Given the description of an element on the screen output the (x, y) to click on. 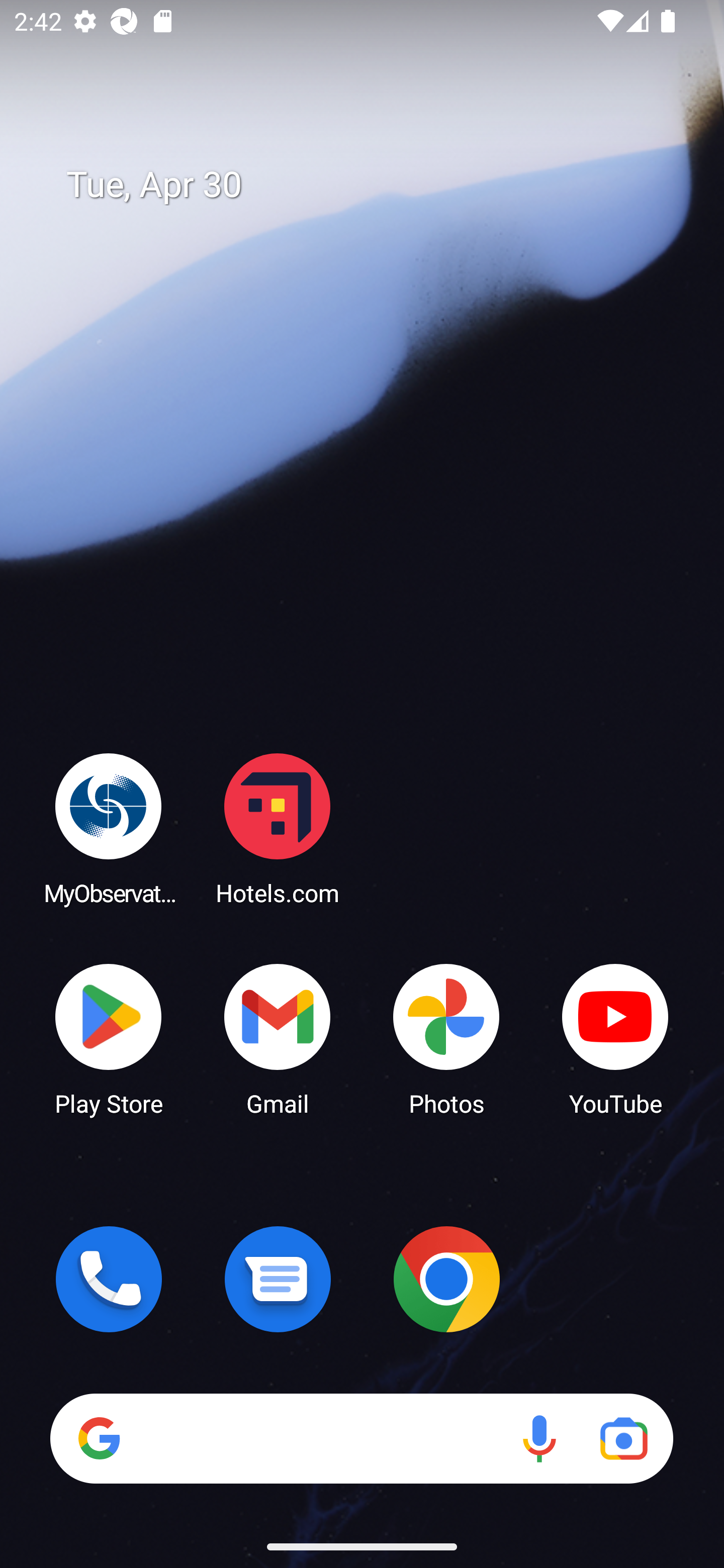
Tue, Apr 30 (375, 184)
MyObservatory (108, 828)
Hotels.com (277, 828)
Play Store (108, 1038)
Gmail (277, 1038)
Photos (445, 1038)
YouTube (615, 1038)
Phone (108, 1279)
Messages (277, 1279)
Chrome (446, 1279)
Voice search (539, 1438)
Google Lens (623, 1438)
